Given the description of an element on the screen output the (x, y) to click on. 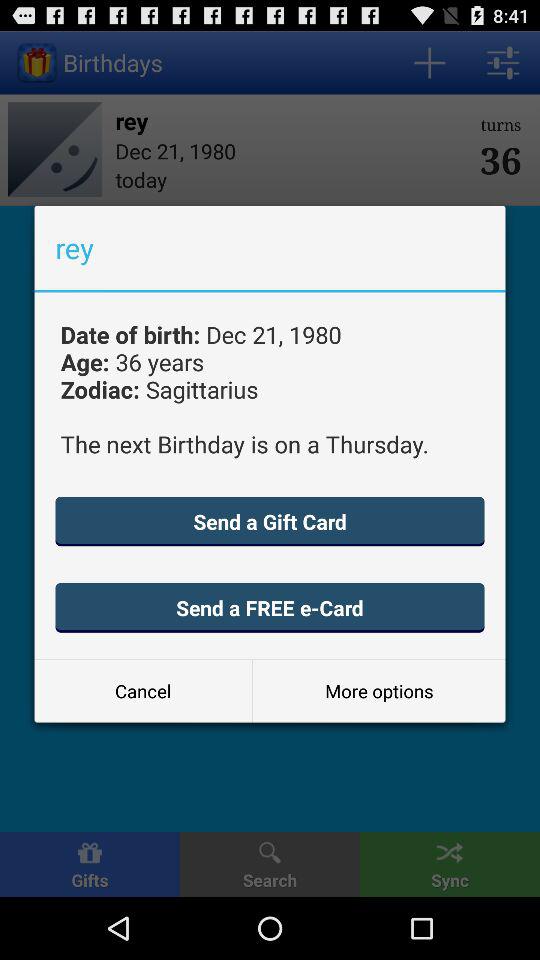
select the icon to the right of the cancel button (378, 690)
